Given the description of an element on the screen output the (x, y) to click on. 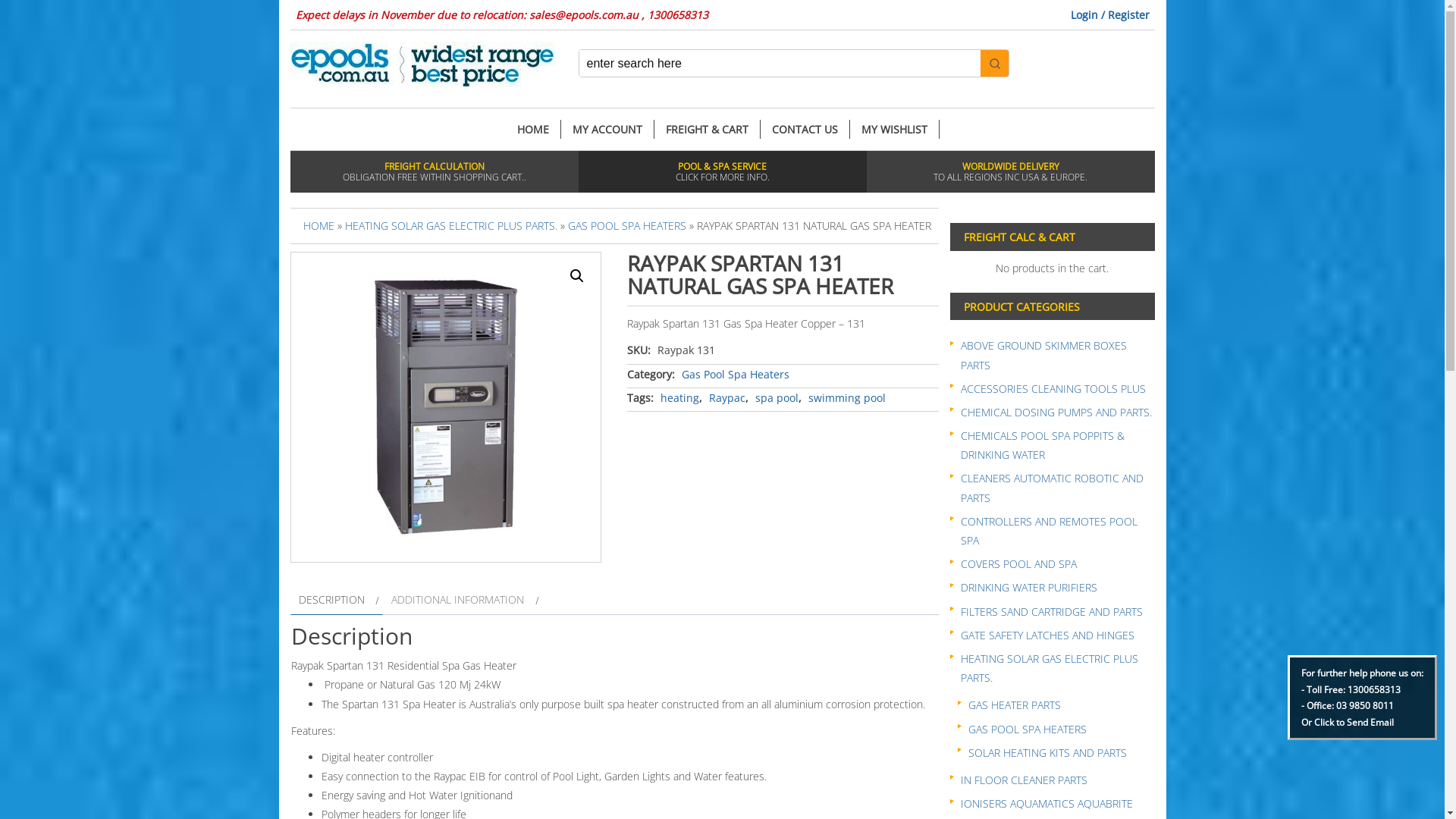
GATE SAFETY LATCHES AND HINGES Element type: text (1046, 634)
MY WISHLIST Element type: text (893, 128)
HOME Element type: text (532, 128)
Gas Pool Spa Heaters Element type: text (735, 374)
ADDITIONAL INFORMATION Element type: text (457, 599)
HOME Element type: text (318, 225)
CHEMICAL DOSING PUMPS AND PARTS. Element type: text (1055, 411)
swimming pool Element type: text (846, 397)
CONTROLLERS AND REMOTES POOL SPA Element type: text (1048, 530)
ABOVE GROUND SKIMMER BOXES PARTS Element type: text (1043, 354)
COVERS POOL AND SPA Element type: text (1018, 563)
POOL & SPA SERVICE Element type: text (721, 166)
DRINKING WATER PURIFIERS Element type: text (1028, 587)
Click to Send Email Element type: text (1353, 721)
Login / Register Element type: text (1109, 14)
03 9850 8011 Element type: text (1364, 705)
Raypac Element type: text (727, 397)
WORLDWIDE DELIVERY Element type: text (1009, 166)
spa pool Element type: text (776, 397)
HEATING SOLAR GAS ELECTRIC PLUS PARTS. Element type: text (1048, 667)
GAS POOL SPA HEATERS Element type: text (626, 225)
CHEMICALS POOL SPA POPPITS & DRINKING WATER Element type: text (1041, 444)
Epools Pool Shop Element type: hover (422, 64)
SOLAR HEATING KITS AND PARTS Element type: text (1046, 752)
heating Element type: text (679, 397)
CLEANERS AUTOMATIC ROBOTIC AND PARTS Element type: text (1051, 487)
1300658313 Element type: text (1373, 689)
FREIGHT & CART Element type: text (706, 128)
CONTACT US Element type: text (804, 128)
FREIGHT CALCULATION Element type: text (433, 166)
IN FLOOR CLEANER PARTS Element type: text (1023, 779)
ACCESSORIES CLEANING TOOLS PLUS Element type: text (1052, 388)
DESCRIPTION Element type: text (331, 599)
HEATING SOLAR GAS ELECTRIC PLUS PARTS. Element type: text (450, 225)
MY ACCOUNT Element type: text (607, 128)
ray-pac-131-spartan-heater Element type: hover (444, 406)
GAS POOL SPA HEATERS Element type: text (1026, 728)
GAS HEATER PARTS Element type: text (1013, 704)
FILTERS SAND CARTRIDGE AND PARTS Element type: text (1051, 611)
